Given the description of an element on the screen output the (x, y) to click on. 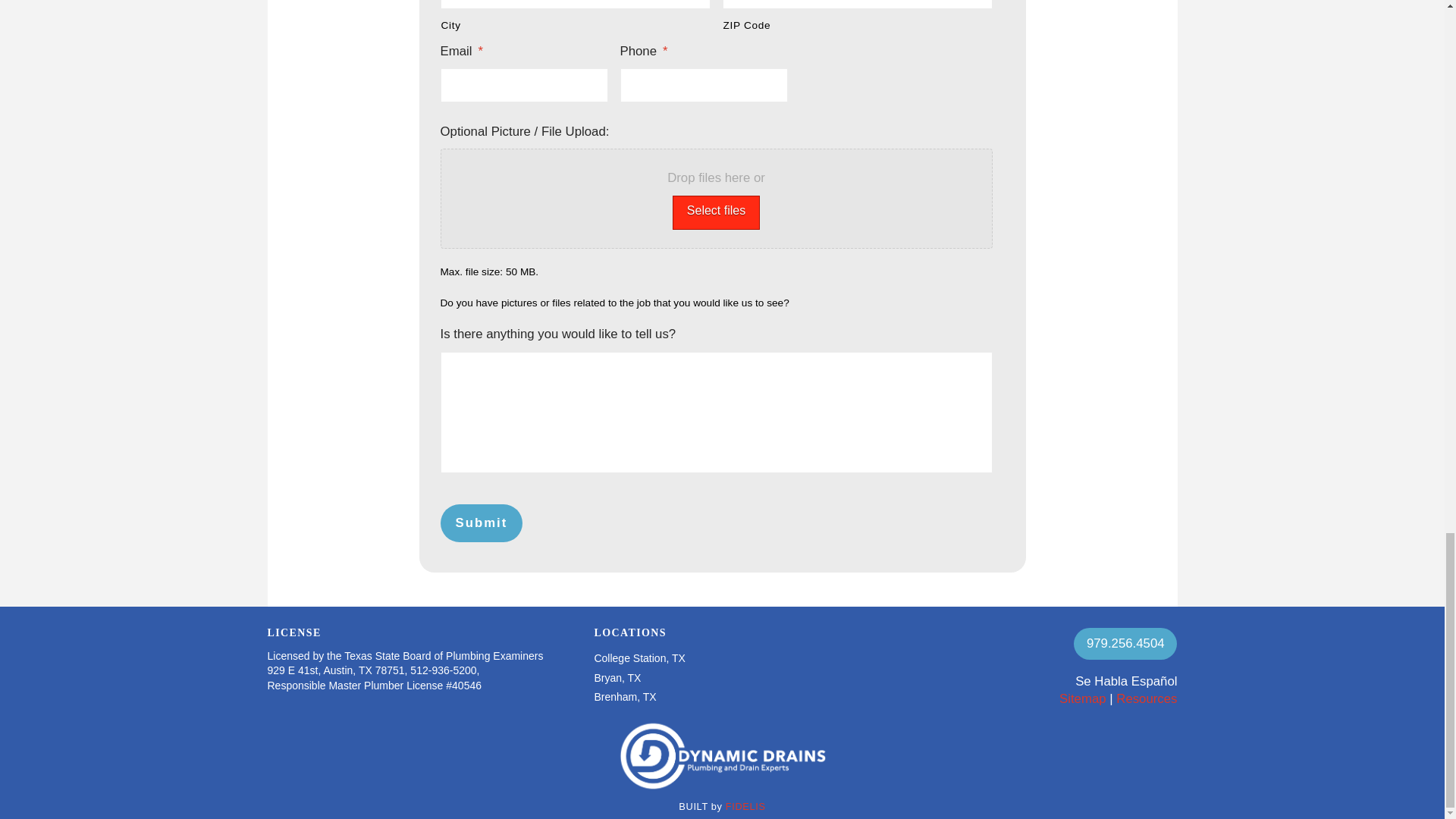
Select files (716, 212)
FIDELIS (745, 806)
College Station, TX (639, 658)
979.256.4504 (1125, 644)
Brenham, TX (625, 696)
Submit (480, 523)
Sitemap (1082, 698)
Bryan, TX (617, 677)
Resources (1146, 698)
Submit (480, 523)
